Given the description of an element on the screen output the (x, y) to click on. 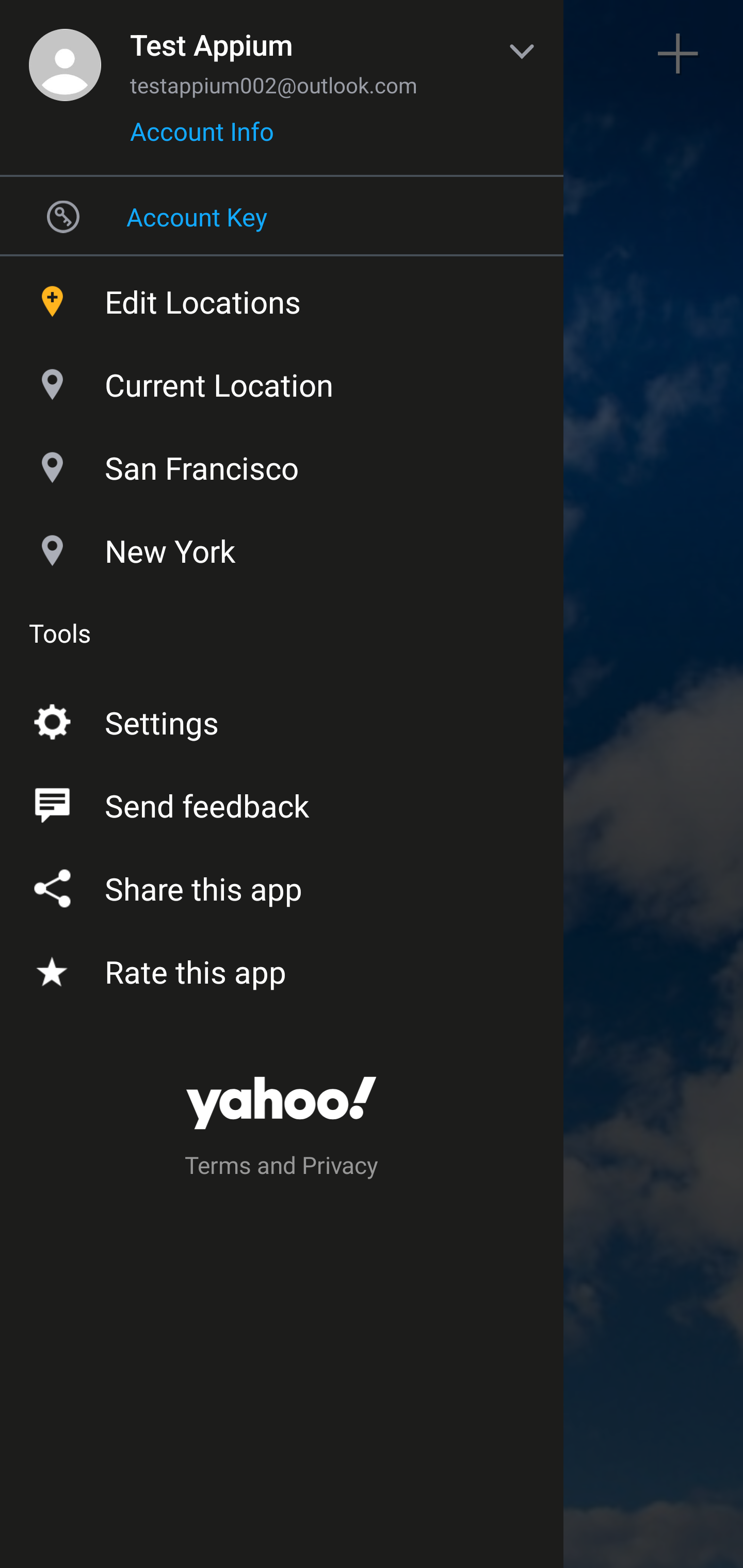
Sidebar (64, 54)
Account Info (202, 137)
Account Key (281, 216)
Edit Locations (281, 296)
Current Location (281, 379)
San Francisco (281, 462)
New York (281, 546)
Settings (281, 718)
Send feedback (281, 801)
Share this app (281, 884)
Terms and Privacy Terms and privacy button (281, 1168)
